Given the description of an element on the screen output the (x, y) to click on. 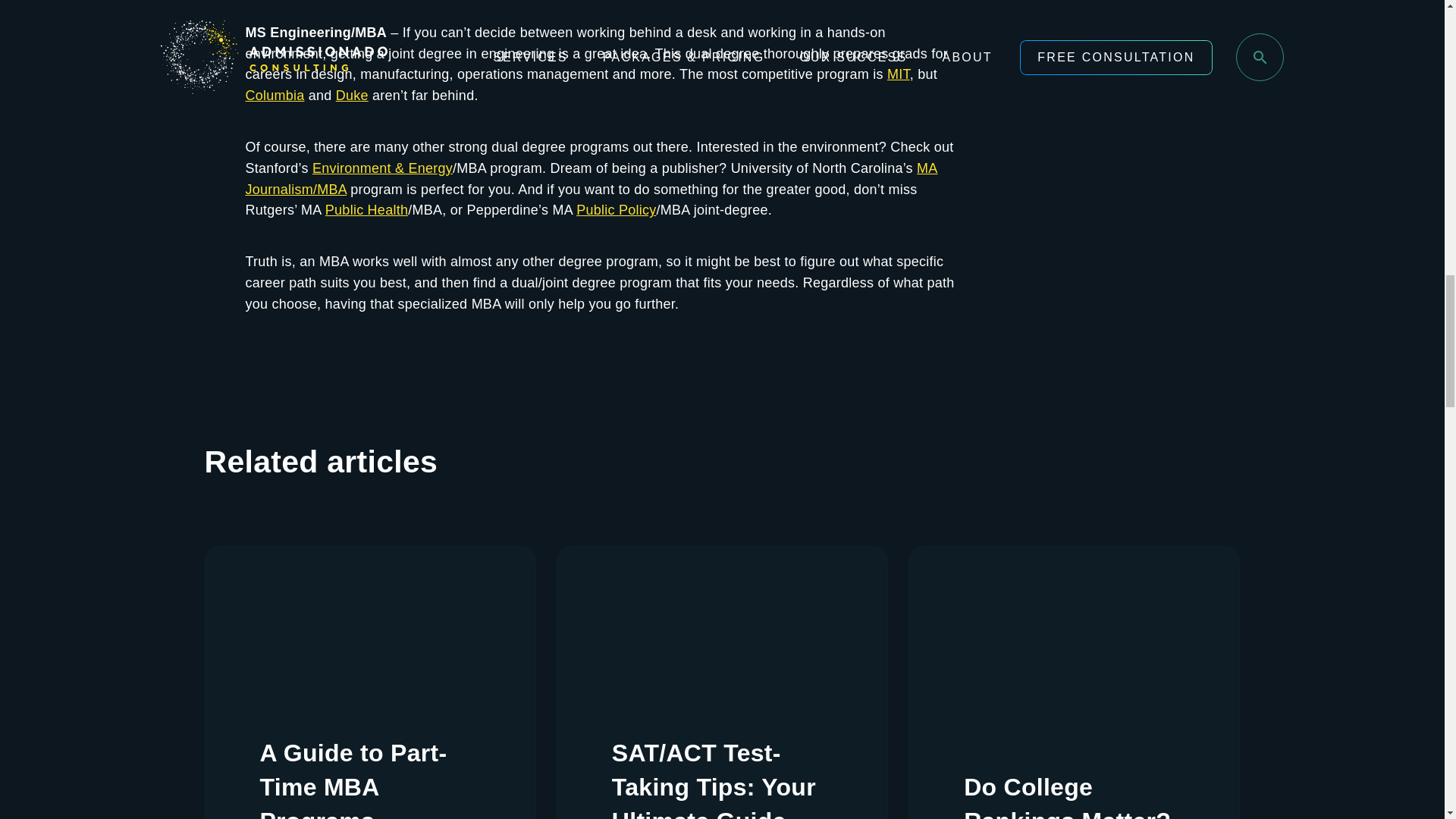
Public Policy (616, 209)
Public Health (365, 209)
Duke (352, 95)
Columbia (275, 95)
A Guide to Part-Time MBA Programs (369, 777)
MIT (898, 73)
